Given the description of an element on the screen output the (x, y) to click on. 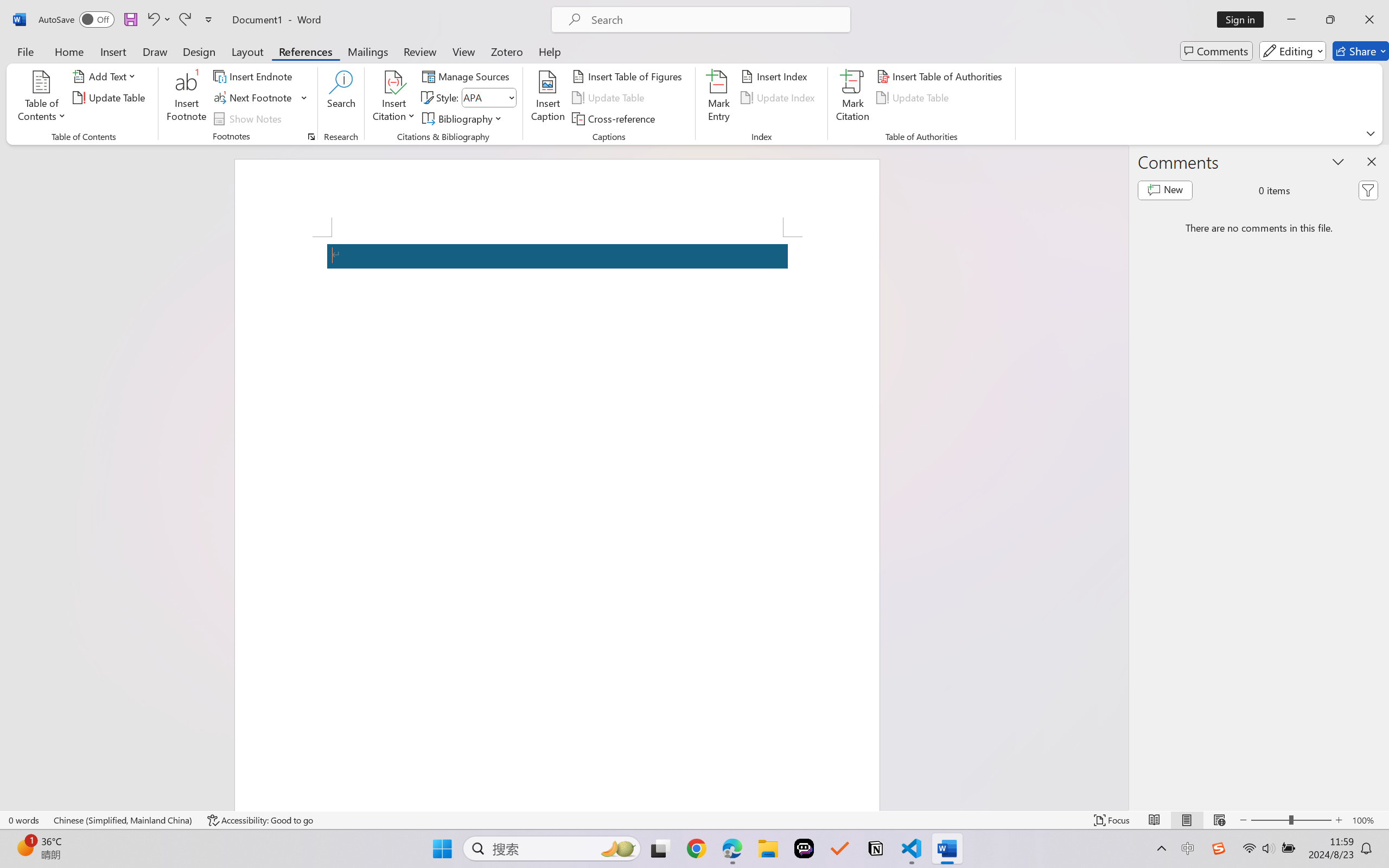
Redo Apply Quick Style (184, 19)
Mark Citation... (852, 97)
Add Text (106, 75)
